Given the description of an element on the screen output the (x, y) to click on. 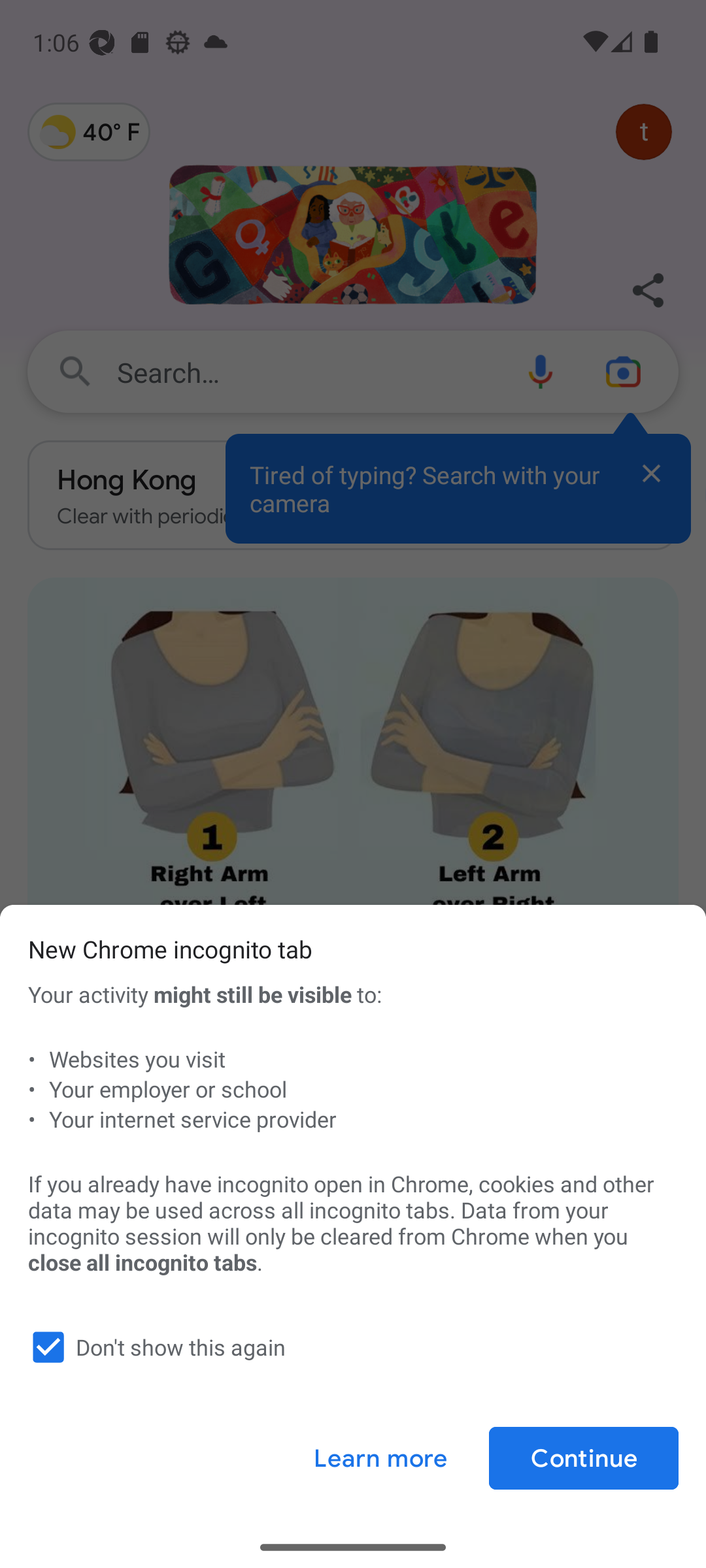
Don't show this again (349, 1346)
Learn more (380, 1458)
Continue (583, 1458)
